Given the description of an element on the screen output the (x, y) to click on. 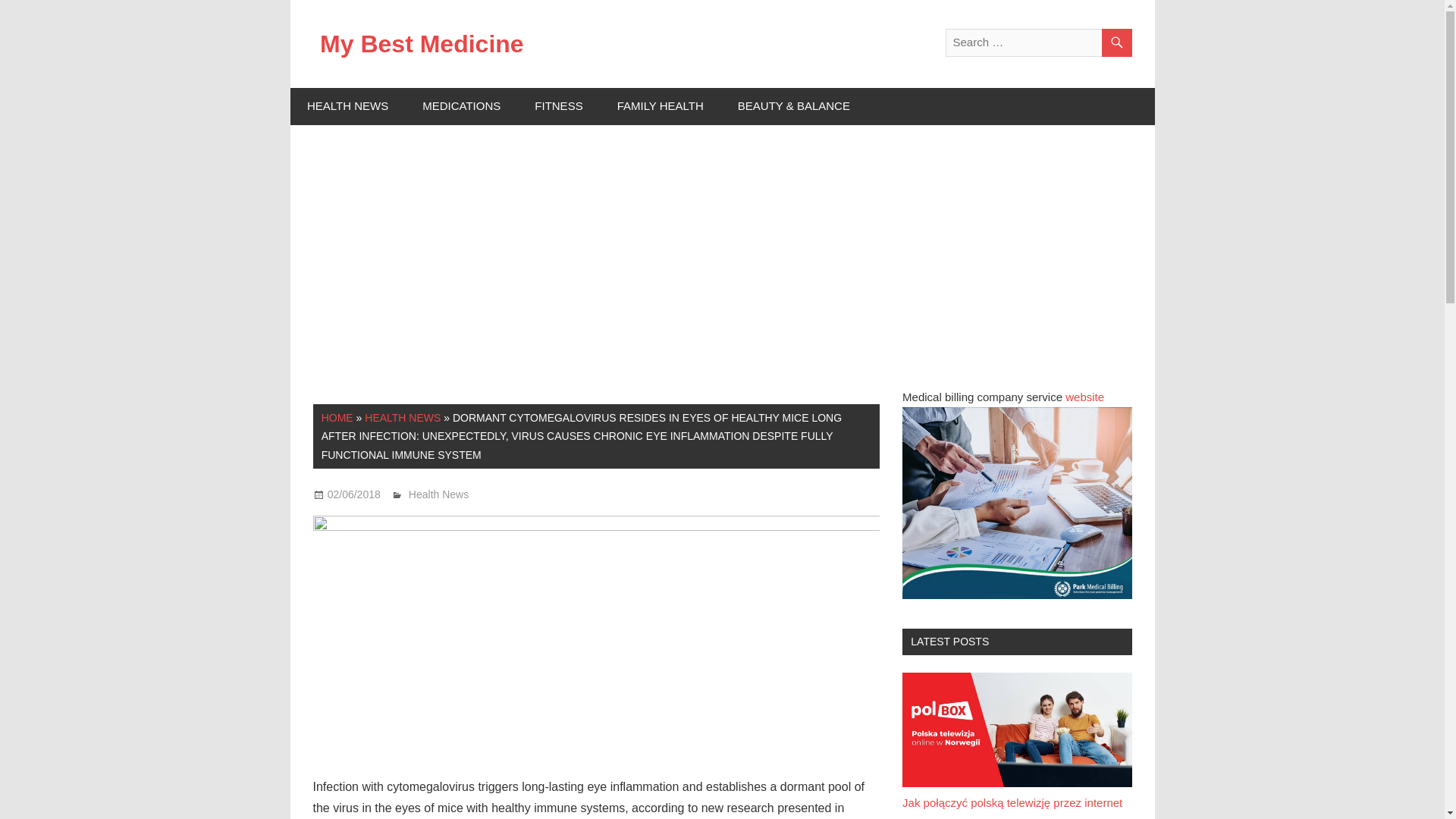
HOME (337, 417)
My Best Medicine (422, 43)
HEALTH NEWS (346, 106)
HEALTH NEWS (403, 417)
Search for: (1037, 42)
02:07 (353, 494)
FAMILY HEALTH (659, 106)
MEDICATIONS (462, 106)
Health News (438, 494)
FITNESS (558, 106)
website (1084, 396)
